Given the description of an element on the screen output the (x, y) to click on. 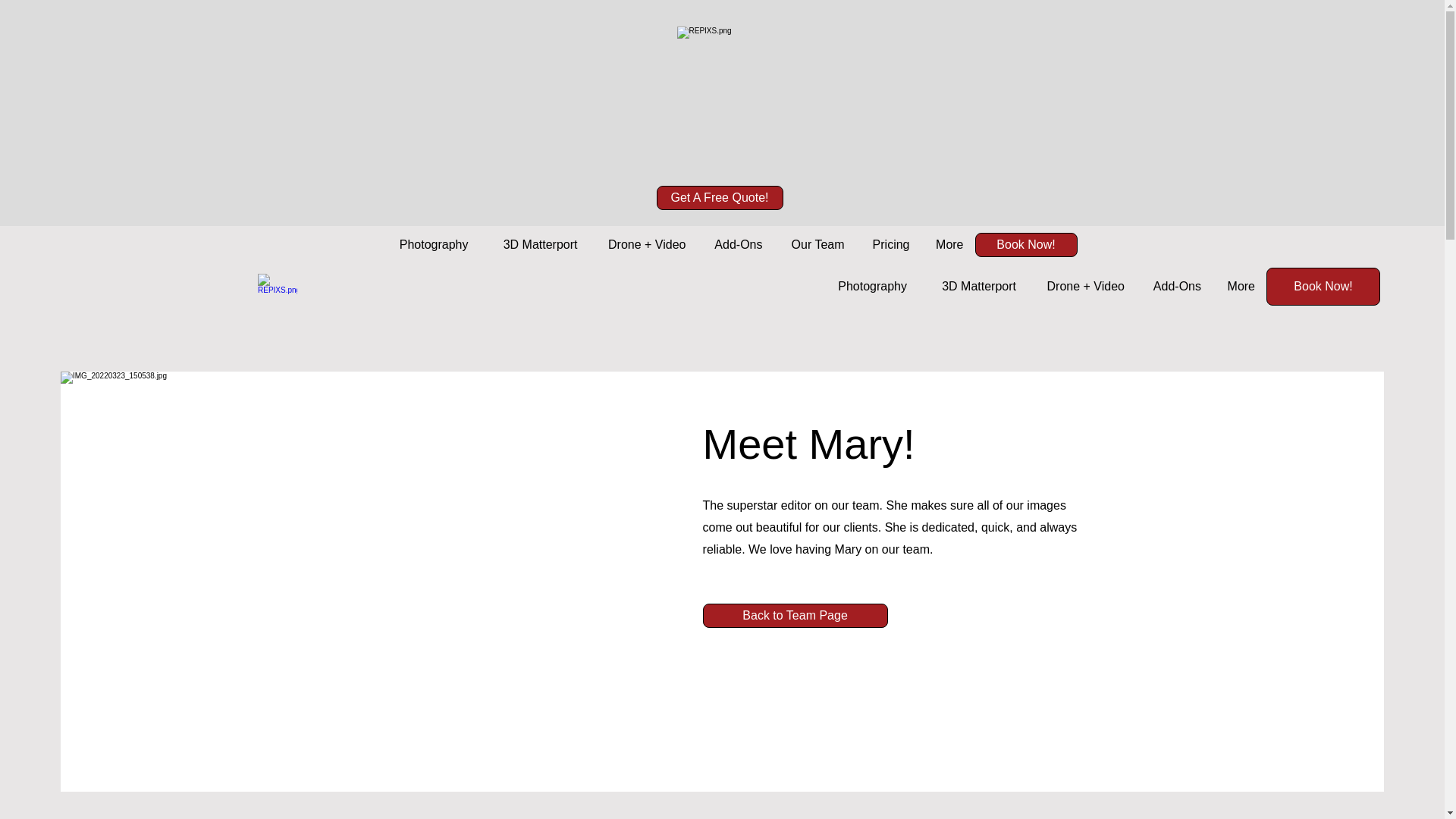
Add-Ons (735, 244)
Add-Ons (1173, 286)
3D Matterport (972, 286)
Our Team (814, 244)
3D Matterport (533, 244)
Back to Team Page (795, 615)
Book Now! (1026, 244)
Photography (866, 286)
Book Now! (1323, 286)
Photography (427, 244)
Pricing (888, 244)
Get A Free Quote! (719, 197)
